Given the description of an element on the screen output the (x, y) to click on. 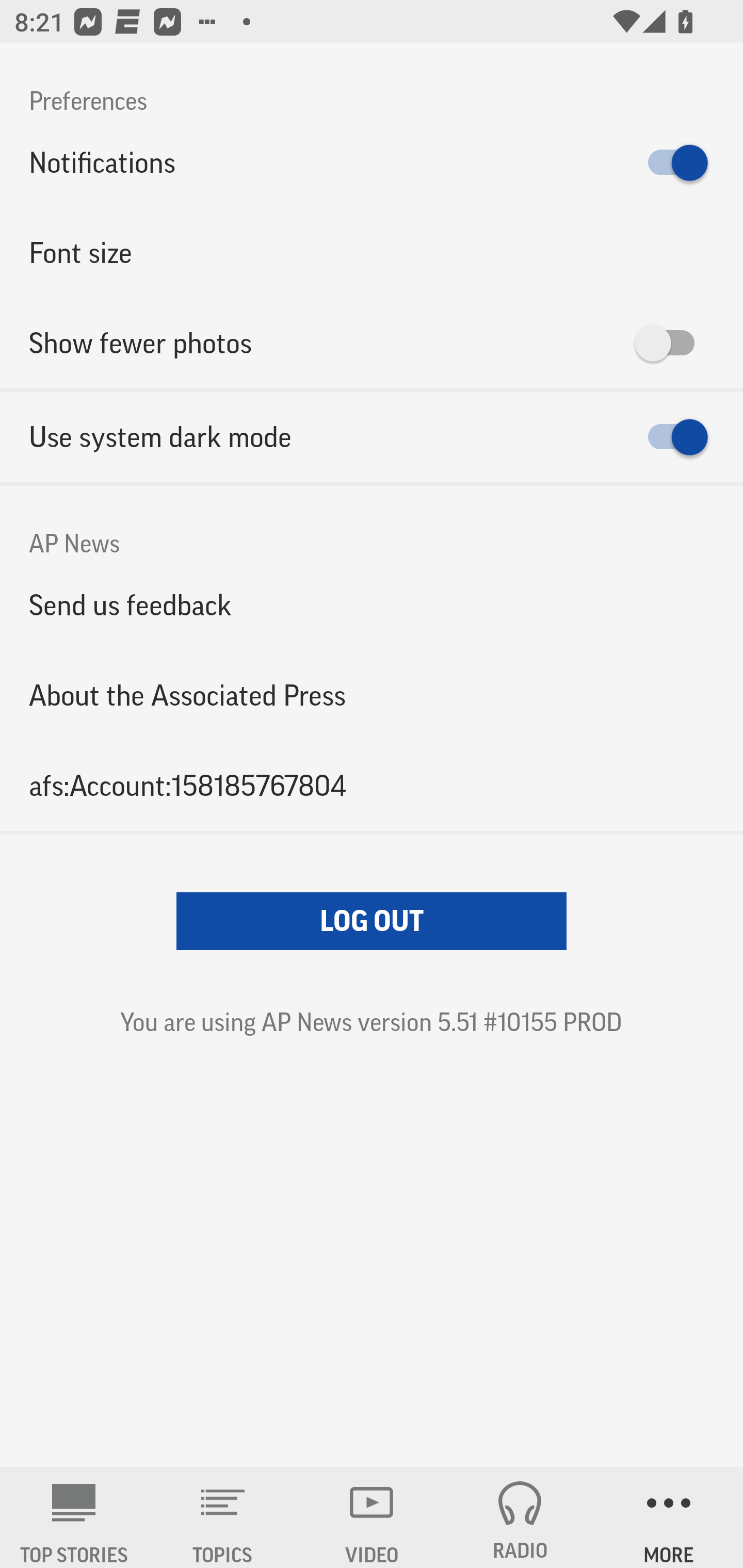
Notifications (371, 162)
Font size (371, 252)
Show fewer photos (371, 342)
Use system dark mode (371, 437)
Send us feedback (371, 604)
About the Associated Press (371, 695)
afs:Account:158185767804 (371, 785)
LOG OUT (371, 921)
AP News TOP STORIES (74, 1517)
TOPICS (222, 1517)
VIDEO (371, 1517)
RADIO (519, 1517)
MORE (668, 1517)
